Given the description of an element on the screen output the (x, y) to click on. 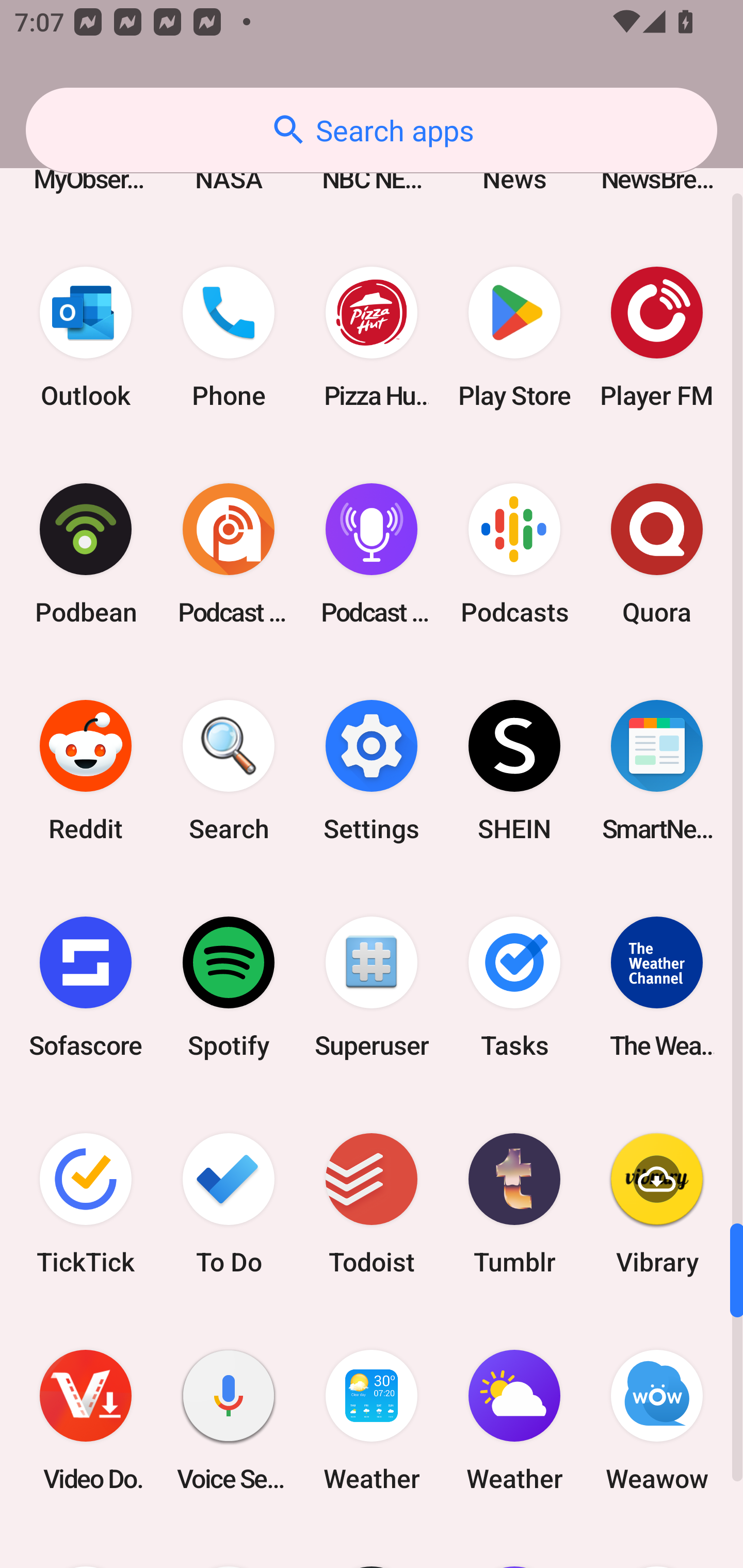
  Search apps (371, 130)
Outlook (85, 336)
Phone (228, 336)
Pizza Hut HK & Macau (371, 336)
Play Store (514, 336)
Player FM (656, 336)
Podbean (85, 553)
Podcast Addict (228, 553)
Podcast Player (371, 553)
Podcasts (514, 553)
Quora (656, 553)
Reddit (85, 770)
Search (228, 770)
Settings (371, 770)
SHEIN (514, 770)
SmartNews (656, 770)
Sofascore (85, 987)
Spotify (228, 987)
Superuser (371, 987)
Tasks (514, 987)
The Weather Channel (656, 987)
TickTick (85, 1204)
To Do (228, 1204)
Todoist (371, 1204)
Tumblr (514, 1204)
Vibrary (656, 1204)
Video Downloader & Ace Player (85, 1420)
Voice Search (228, 1420)
Weather (371, 1420)
Weather (514, 1420)
Weawow (656, 1420)
